Given the description of an element on the screen output the (x, y) to click on. 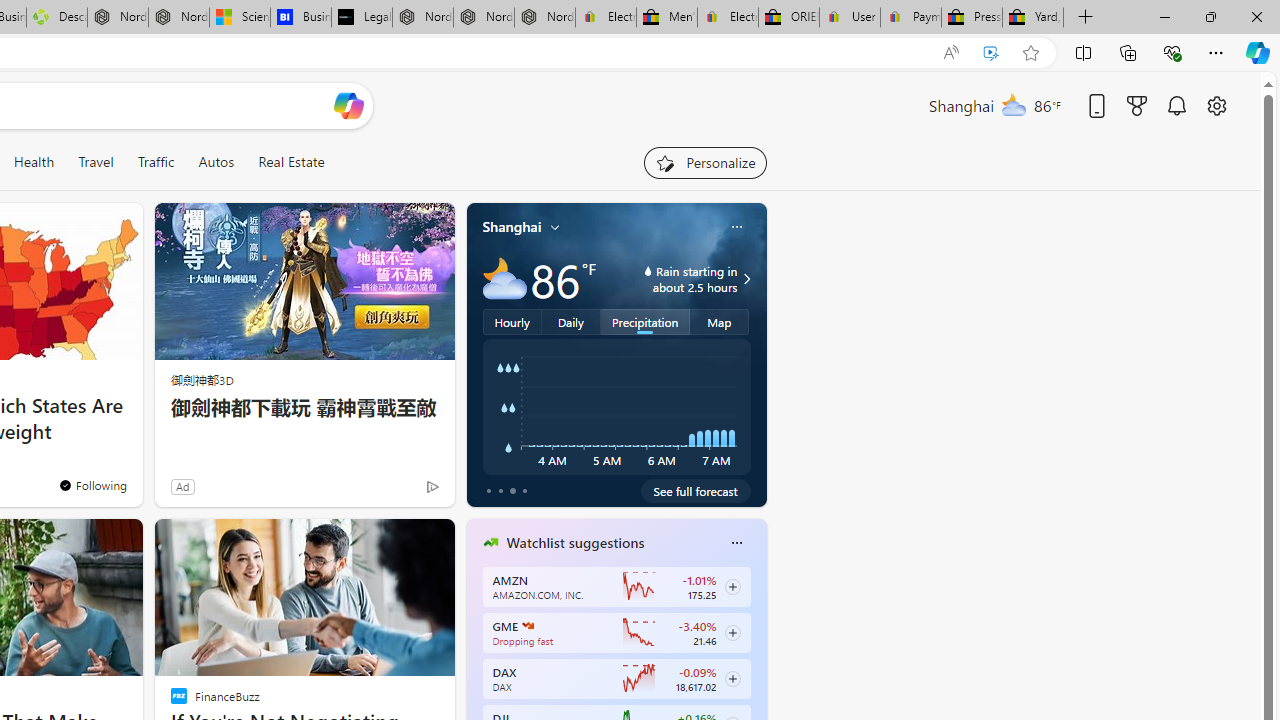
Shanghai (511, 227)
Class: follow-button  m (732, 678)
My location (555, 227)
Yard, Garden & Outdoor Living (1033, 17)
tab-0 (488, 490)
